Given the description of an element on the screen output the (x, y) to click on. 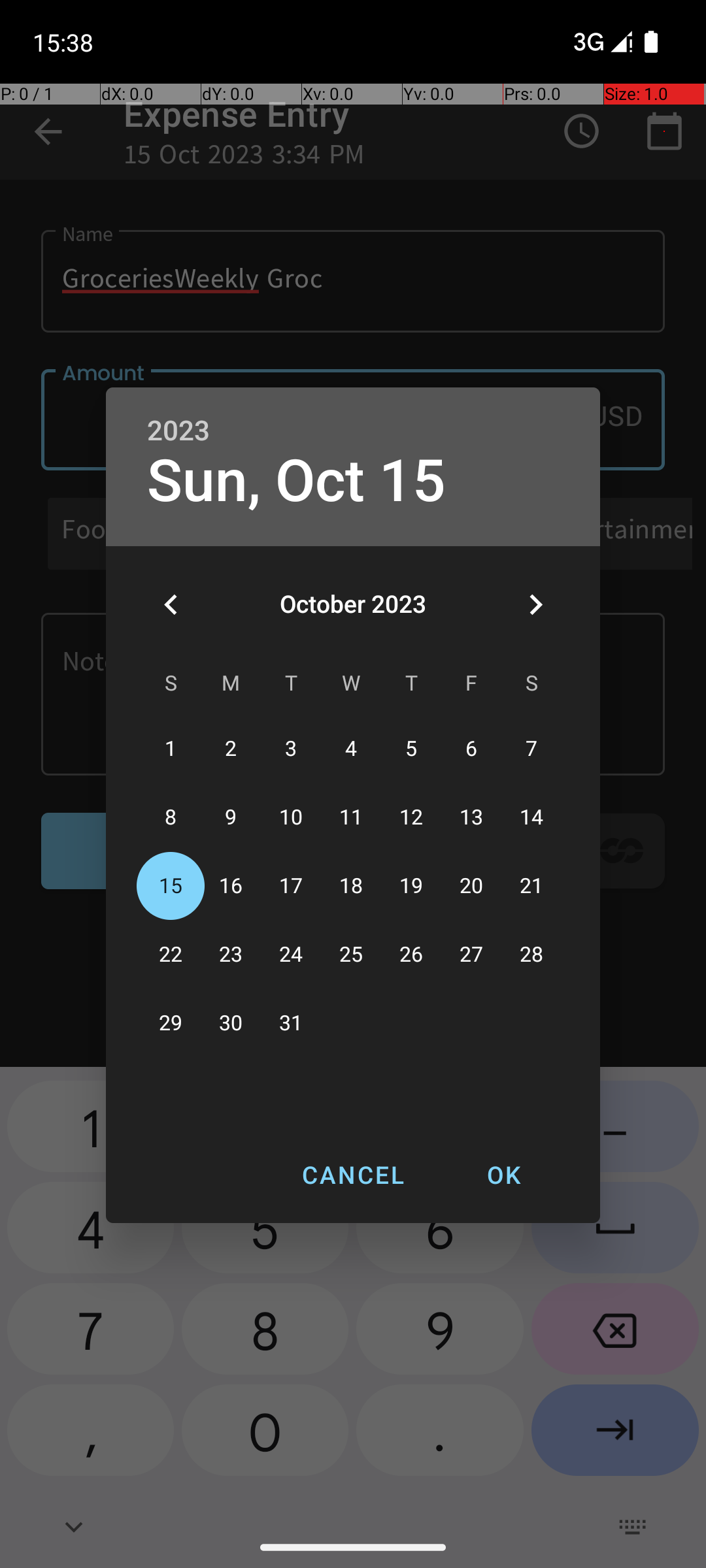
2023 Element type: android.widget.TextView (178, 430)
Previous month Element type: android.widget.ImageButton (170, 604)
Next month Element type: android.widget.ImageButton (535, 604)
CANCEL Element type: android.widget.Button (352, 1174)
11 Element type: android.view.View (350, 817)
12 Element type: android.view.View (411, 817)
13 Element type: android.view.View (471, 817)
14 Element type: android.view.View (531, 817)
16 Element type: android.view.View (230, 885)
17 Element type: android.view.View (290, 885)
18 Element type: android.view.View (350, 885)
19 Element type: android.view.View (411, 885)
21 Element type: android.view.View (531, 885)
22 Element type: android.view.View (170, 954)
23 Element type: android.view.View (230, 954)
24 Element type: android.view.View (290, 954)
26 Element type: android.view.View (411, 954)
27 Element type: android.view.View (471, 954)
28 Element type: android.view.View (531, 954)
29 Element type: android.view.View (170, 1023)
31 Element type: android.view.View (290, 1023)
15:38 Element type: android.widget.TextView (64, 41)
